Given the description of an element on the screen output the (x, y) to click on. 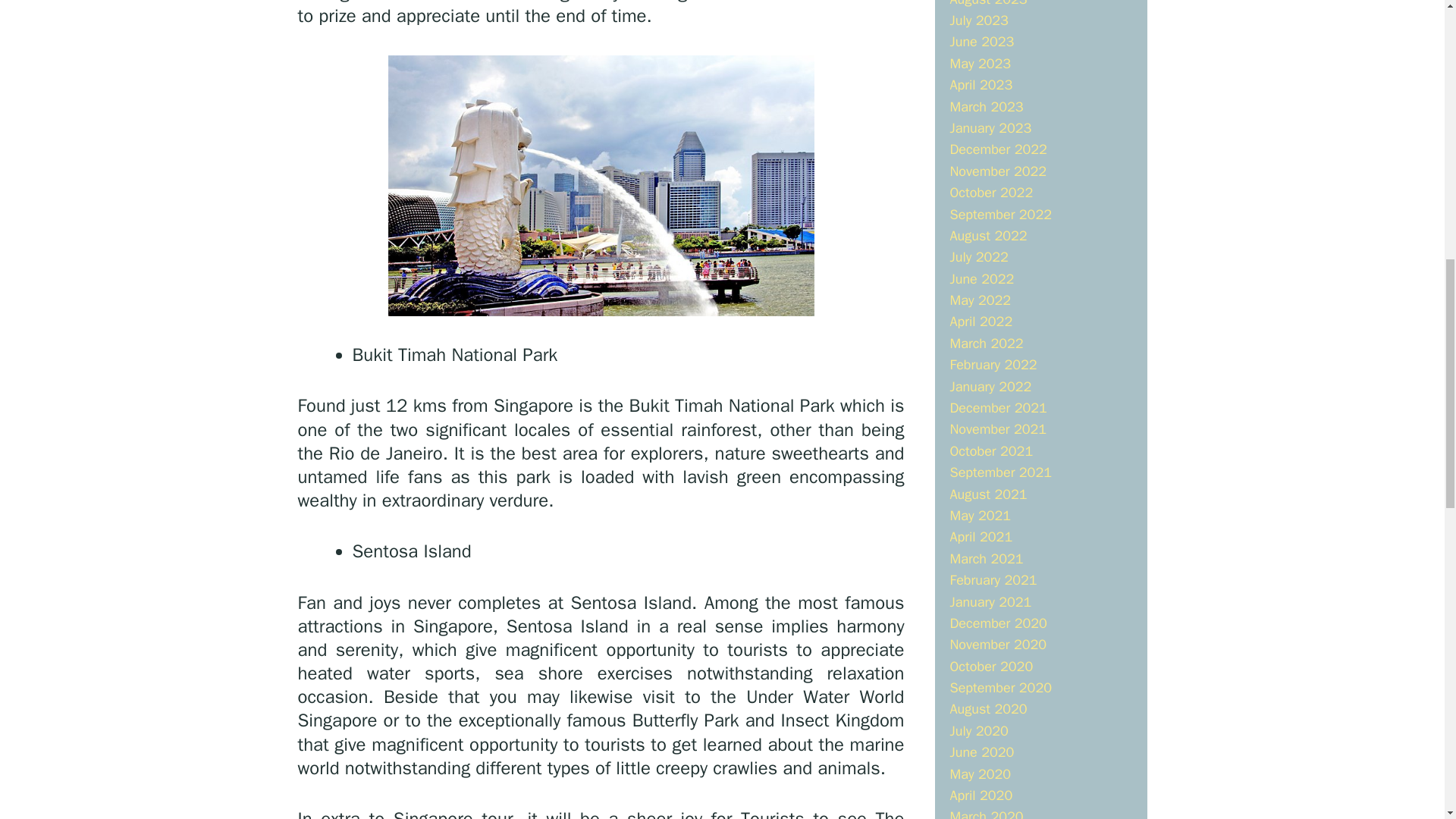
June 2023 (981, 41)
July 2022 (978, 256)
September 2022 (1000, 214)
January 2023 (989, 127)
May 2023 (979, 63)
December 2022 (997, 149)
April 2023 (980, 84)
November 2022 (997, 170)
July 2023 (978, 20)
October 2022 (990, 192)
August 2022 (987, 235)
August 2023 (987, 3)
March 2023 (986, 106)
